Given the description of an element on the screen output the (x, y) to click on. 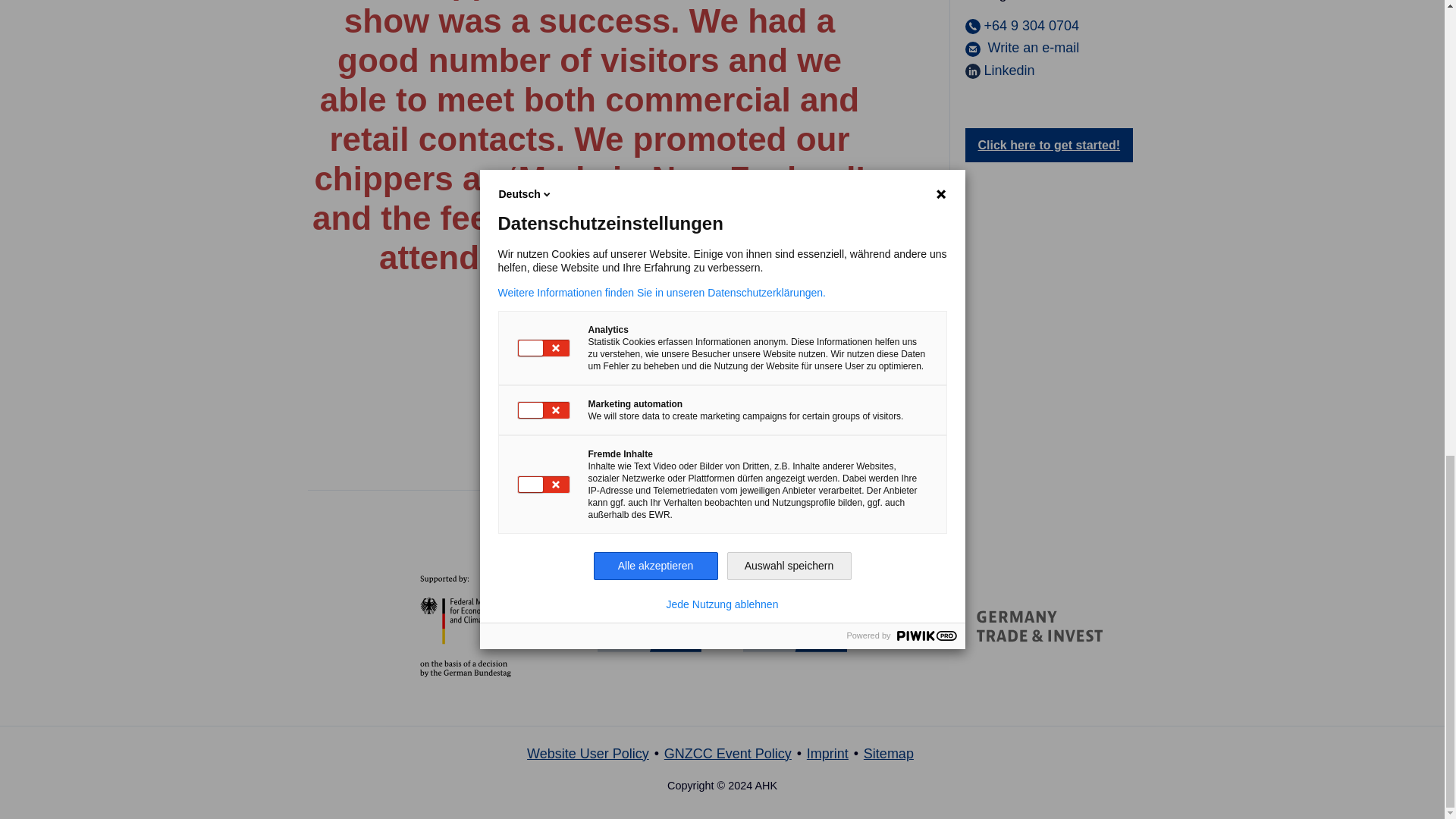
Footer (721, 760)
Sitemap (888, 753)
GNZCC Event Policy (727, 753)
  Celine Kern (1020, 47)
Website User Policy (588, 753)
Imprint (827, 753)
